Given the description of an element on the screen output the (x, y) to click on. 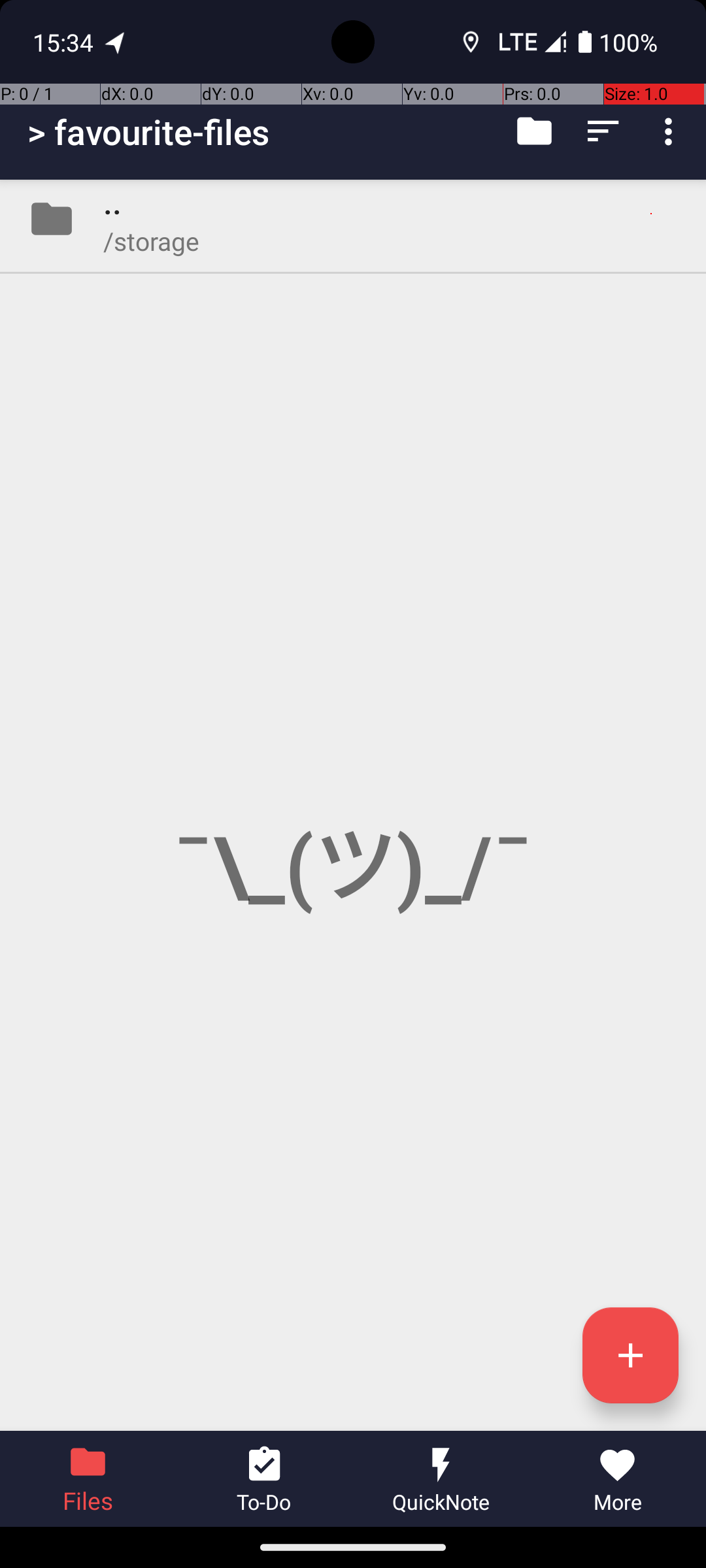
> favourite-files Element type: android.widget.TextView (148, 131)
